Given the description of an element on the screen output the (x, y) to click on. 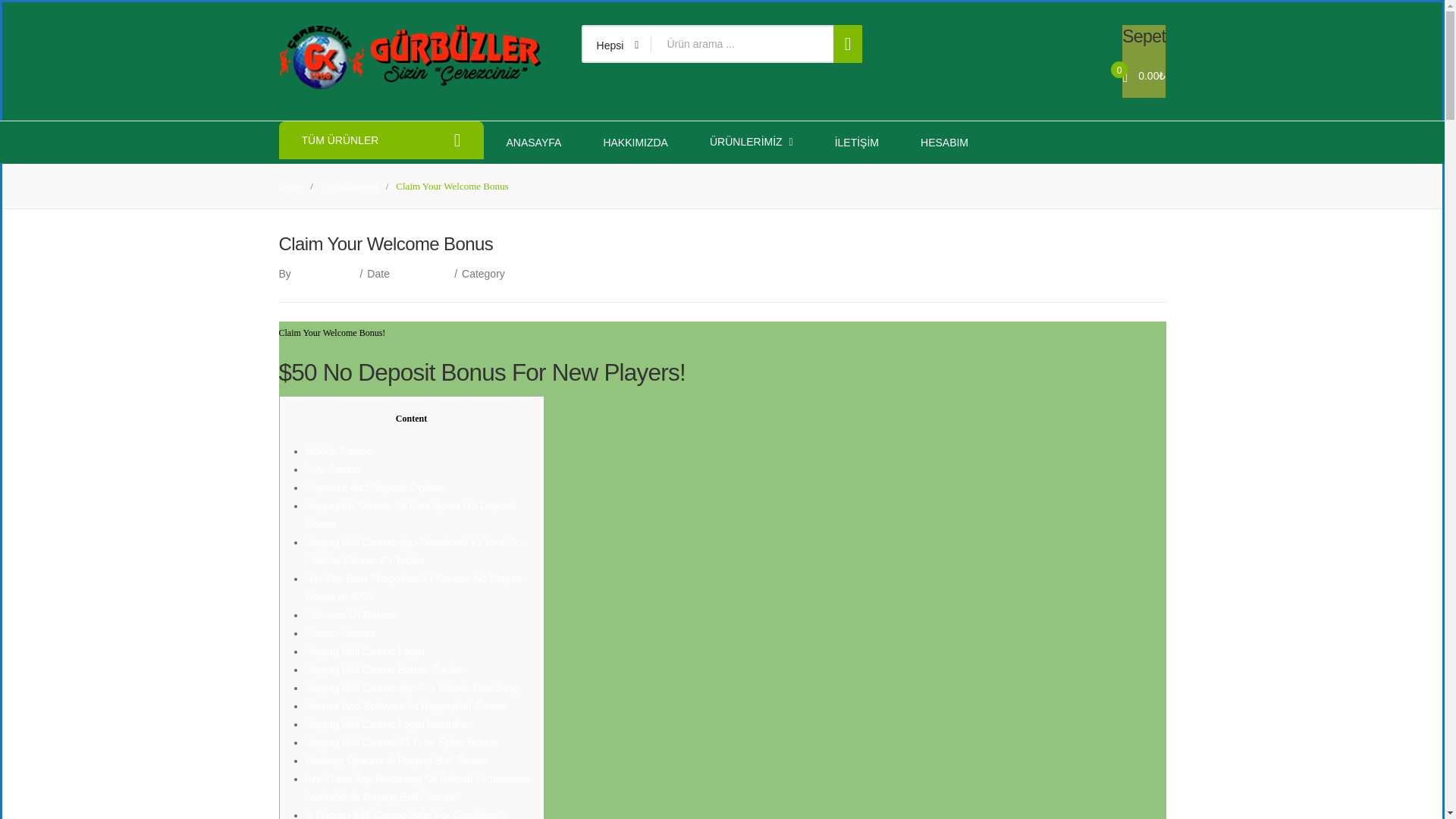
Search (847, 44)
ANASAYFA (534, 141)
HAKKIMIZDA (635, 141)
